Given the description of an element on the screen output the (x, y) to click on. 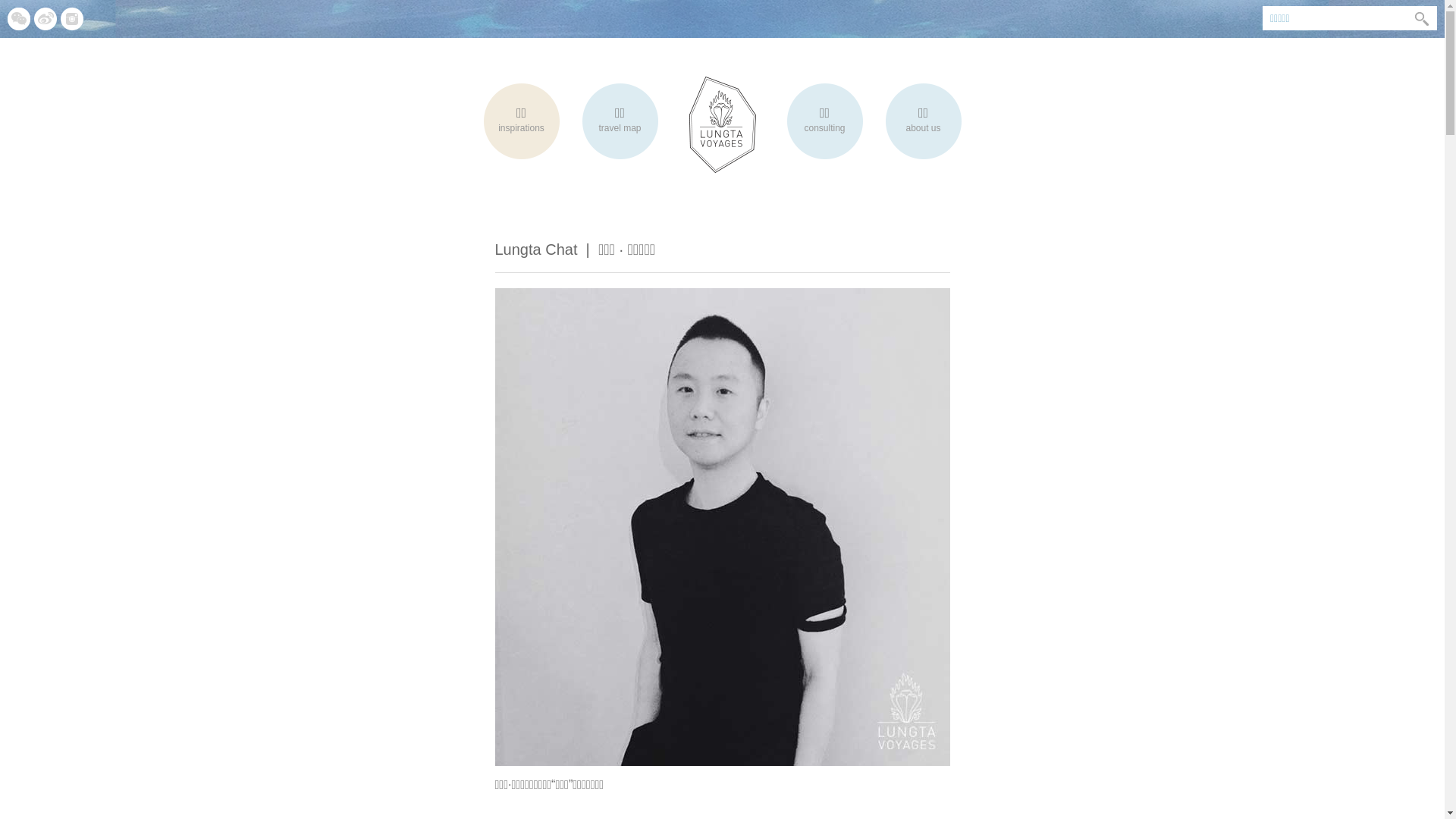
Search for: Element type: hover (1334, 18)
Instagram Element type: text (71, 18)
